Given the description of an element on the screen output the (x, y) to click on. 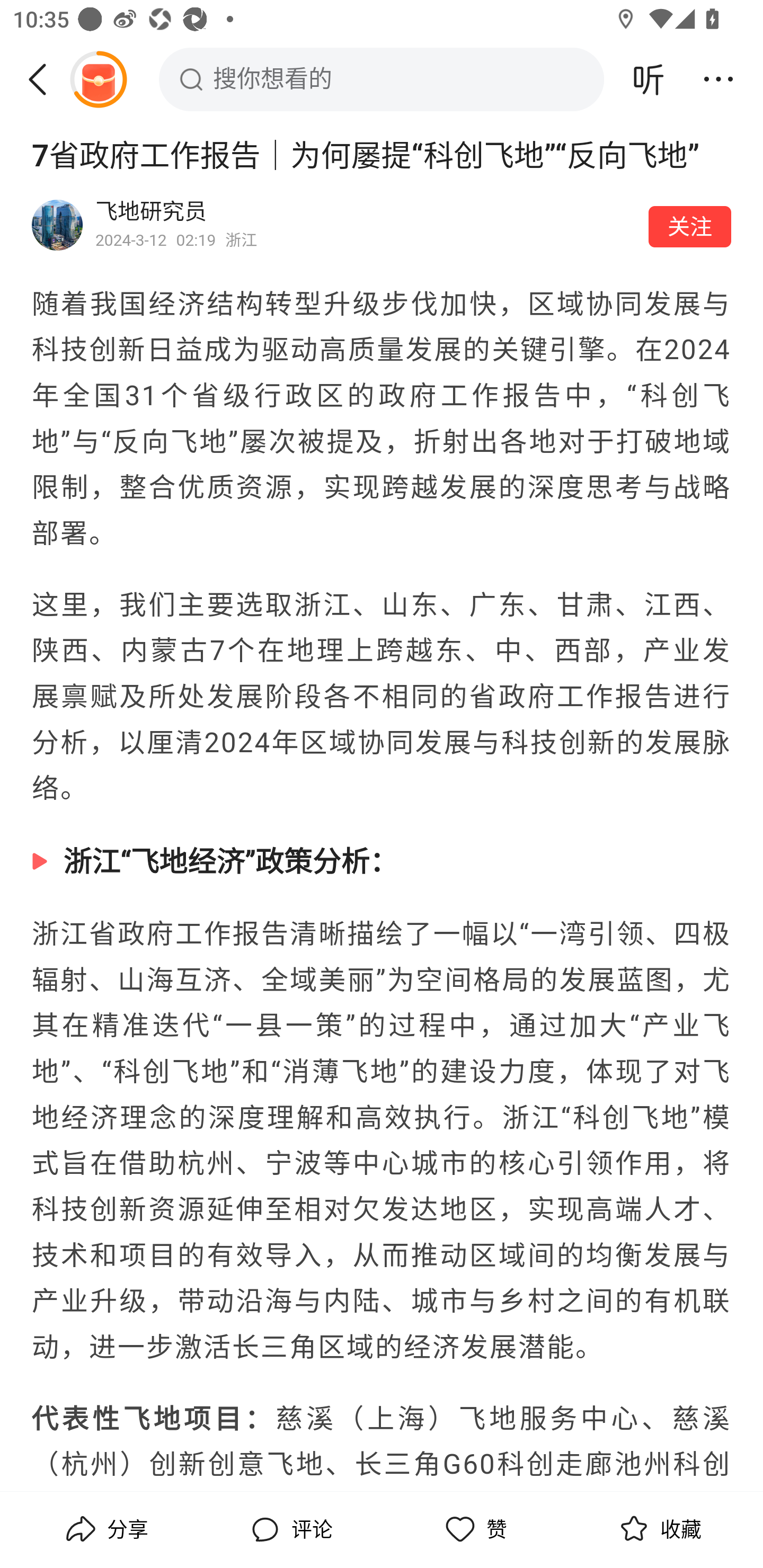
返回 (44, 78)
听头条 (648, 78)
更多操作 (718, 78)
搜你想看的 搜索框，搜你想看的 (381, 79)
阅读赚金币 (98, 79)
作者：飞地研究员，2024-3-12 02:19发布，浙江 (365, 224)
关注作者 (689, 226)
分享 (104, 1529)
评论, 评论 (288, 1529)
,收藏 收藏 (658, 1529)
